Given the description of an element on the screen output the (x, y) to click on. 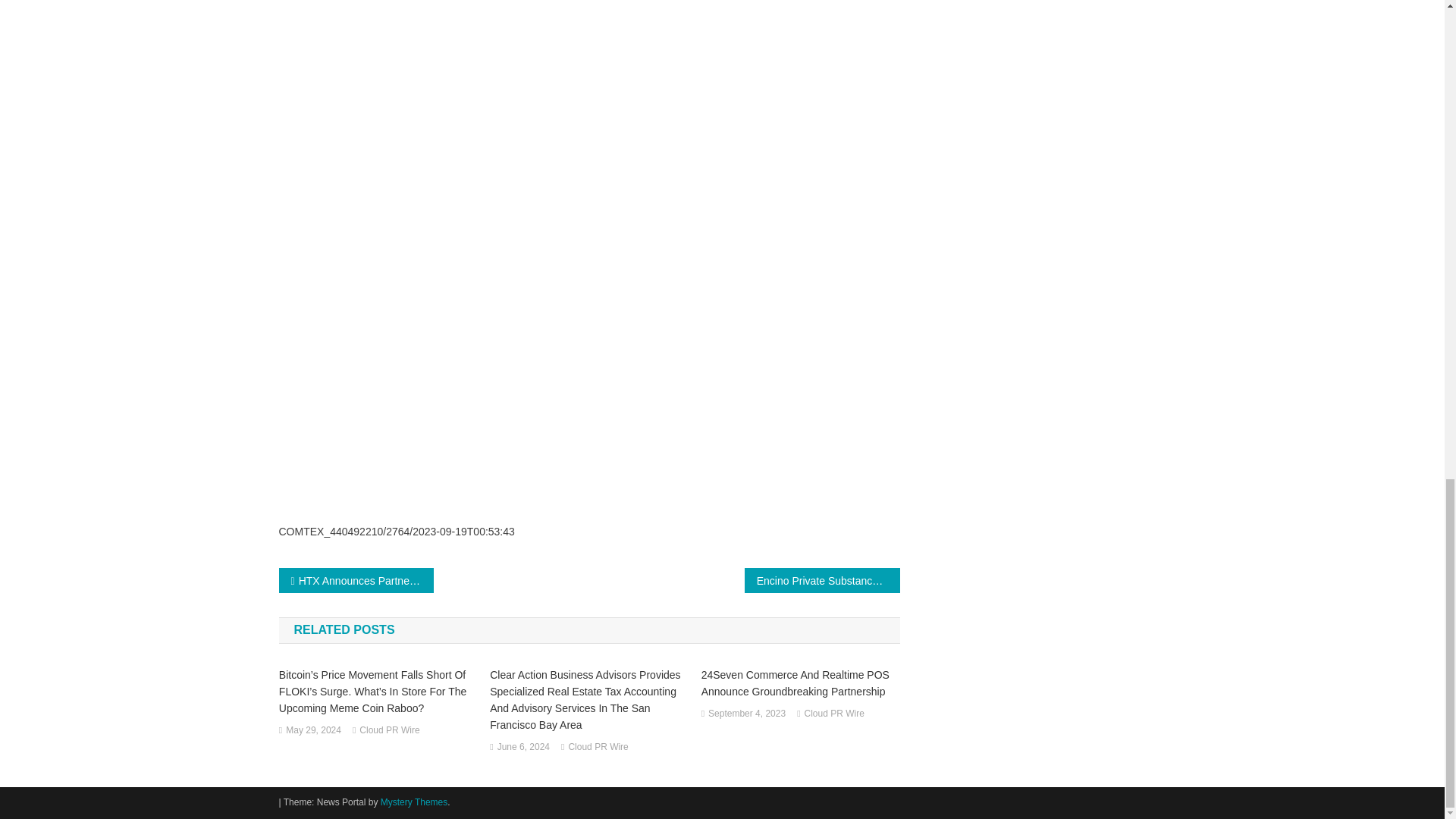
Cloud PR Wire (834, 713)
Cloud PR Wire (597, 747)
June 6, 2024 (523, 747)
September 4, 2023 (746, 713)
Mystery Themes (413, 801)
May 29, 2024 (312, 730)
Cloud PR Wire (389, 730)
HTX Announces Partnership with CertiK (356, 580)
